Given the description of an element on the screen output the (x, y) to click on. 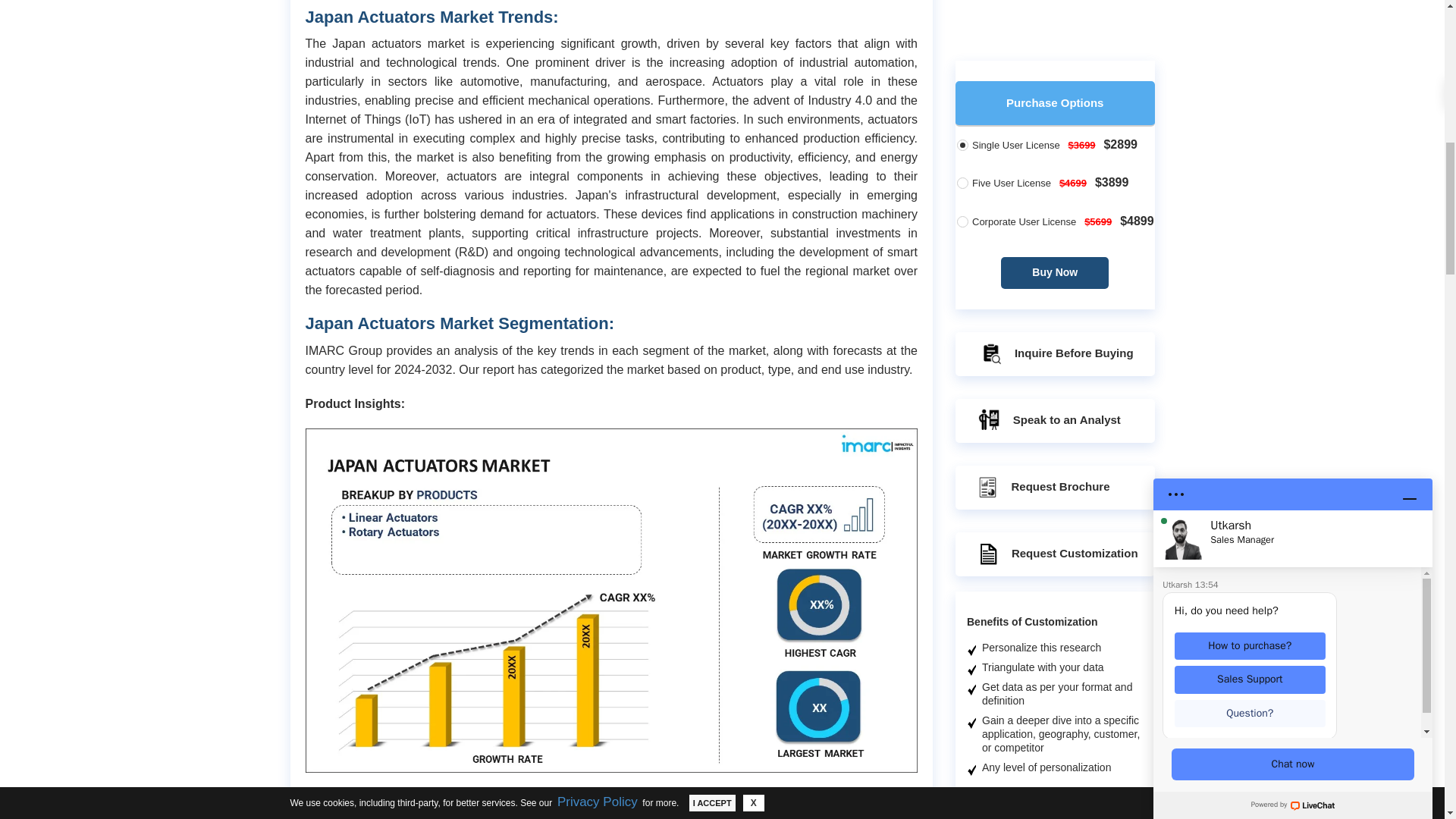
Know more (1081, 817)
